Given the description of an element on the screen output the (x, y) to click on. 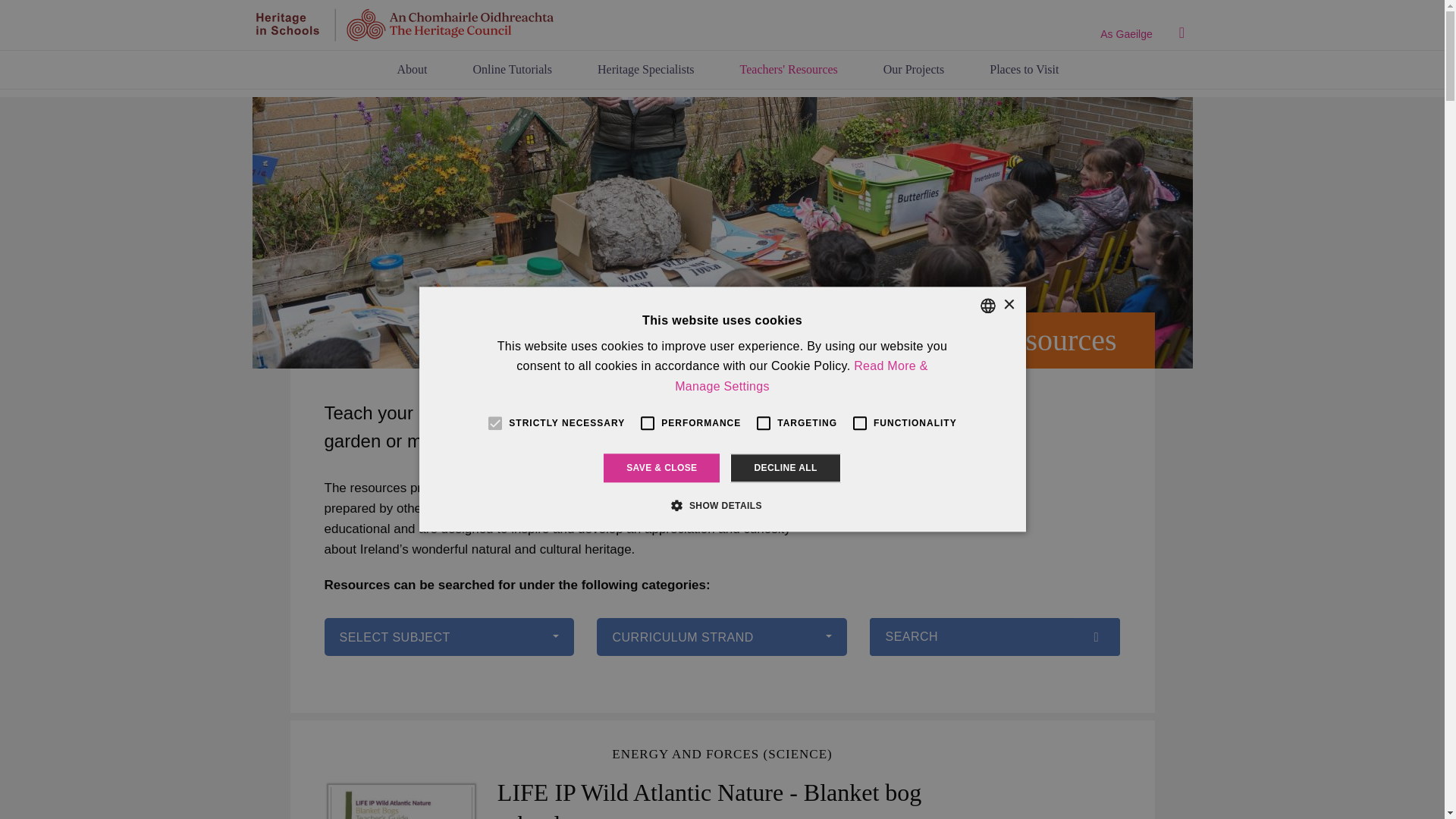
Heritage in Schools - English (402, 24)
Home (402, 23)
As Gaeilge (1125, 33)
Places to Visit (1018, 69)
About (412, 69)
Online Tutorials (512, 69)
Search (1181, 32)
Teachers' Resources (788, 69)
Our Projects (913, 69)
Heritage Specialists (646, 69)
